Given the description of an element on the screen output the (x, y) to click on. 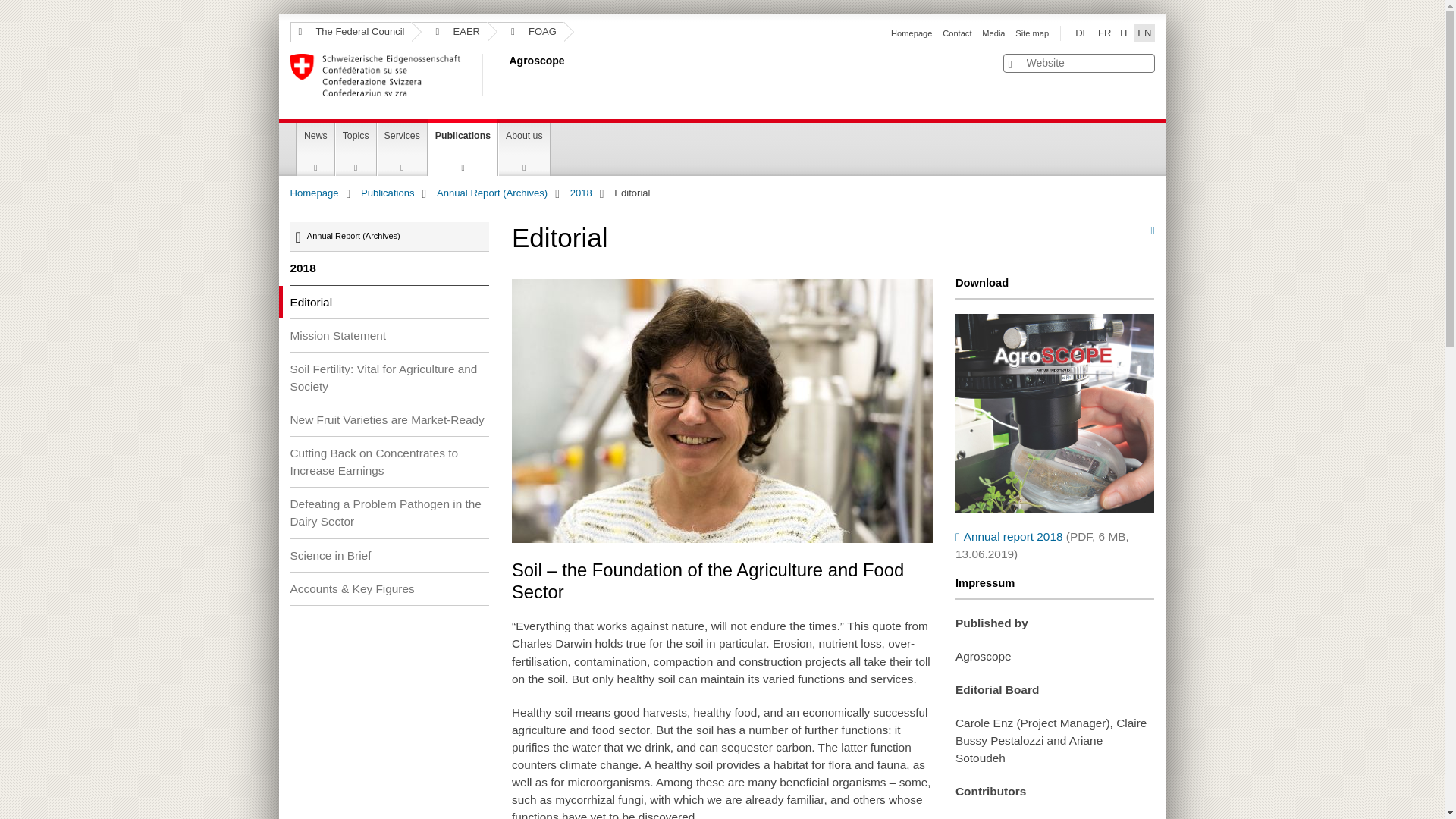
Homepage (911, 32)
The Federal Council (350, 32)
Contact (956, 32)
EN (1144, 32)
English selected (1144, 32)
French (1103, 32)
German (1081, 32)
FR (1103, 32)
Media (992, 32)
IT (1124, 32)
Site map (1031, 32)
DE (1081, 32)
FOAG (525, 32)
EAER (449, 32)
Agroscope (505, 75)
